Given the description of an element on the screen output the (x, y) to click on. 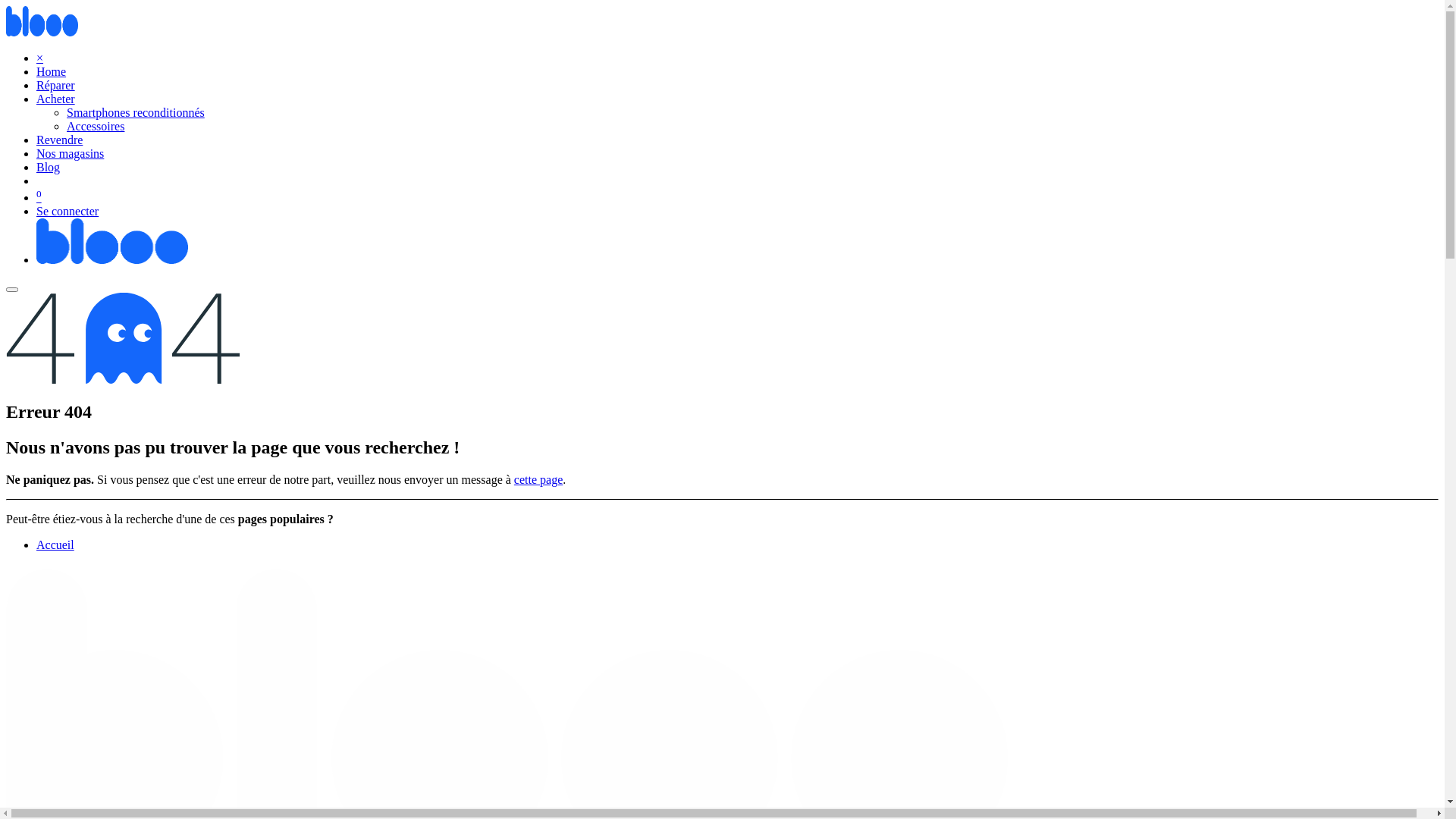
Nos magasins Element type: text (69, 153)
My Website Element type: hover (42, 31)
Acheter Element type: text (55, 98)
Home Element type: text (50, 71)
cette page Element type: text (538, 479)
0 Element type: text (38, 197)
Blog Element type: text (47, 166)
Accessoires Element type: text (95, 125)
Accueil Element type: text (55, 544)
Se connecter Element type: text (67, 210)
My Website Element type: hover (112, 259)
Revendre Element type: text (59, 139)
